Given the description of an element on the screen output the (x, y) to click on. 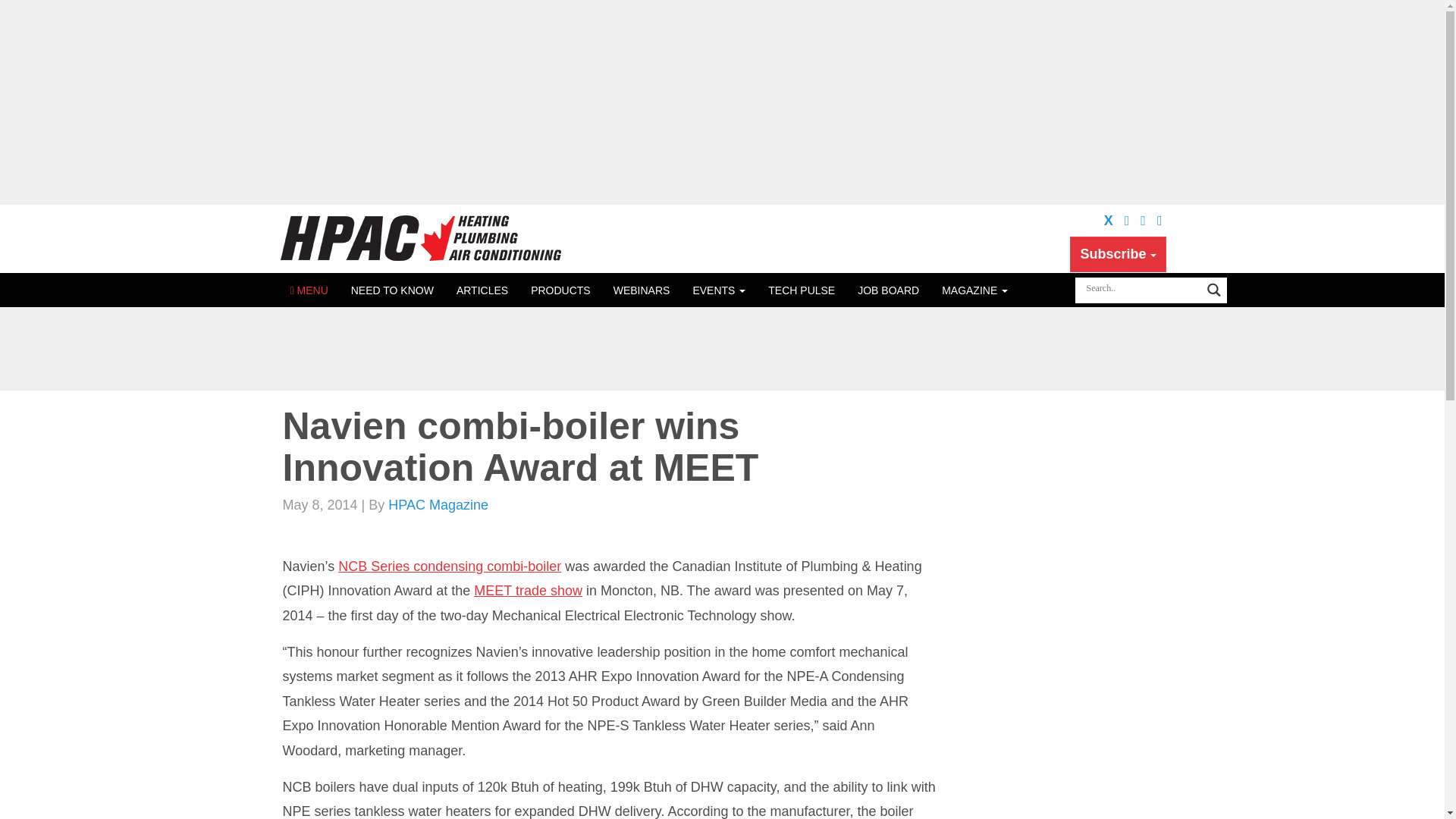
MENU (309, 289)
Click to show site navigation (309, 289)
PRODUCTS (560, 289)
EVENTS (719, 289)
MAGAZINE (974, 289)
JOB BOARD (887, 289)
ARTICLES (482, 289)
TECH PULSE (801, 289)
NEED TO KNOW (392, 289)
HPAC Magazine (421, 237)
3rd party ad content (721, 348)
Subscribe (1118, 253)
X (1108, 220)
